Given the description of an element on the screen output the (x, y) to click on. 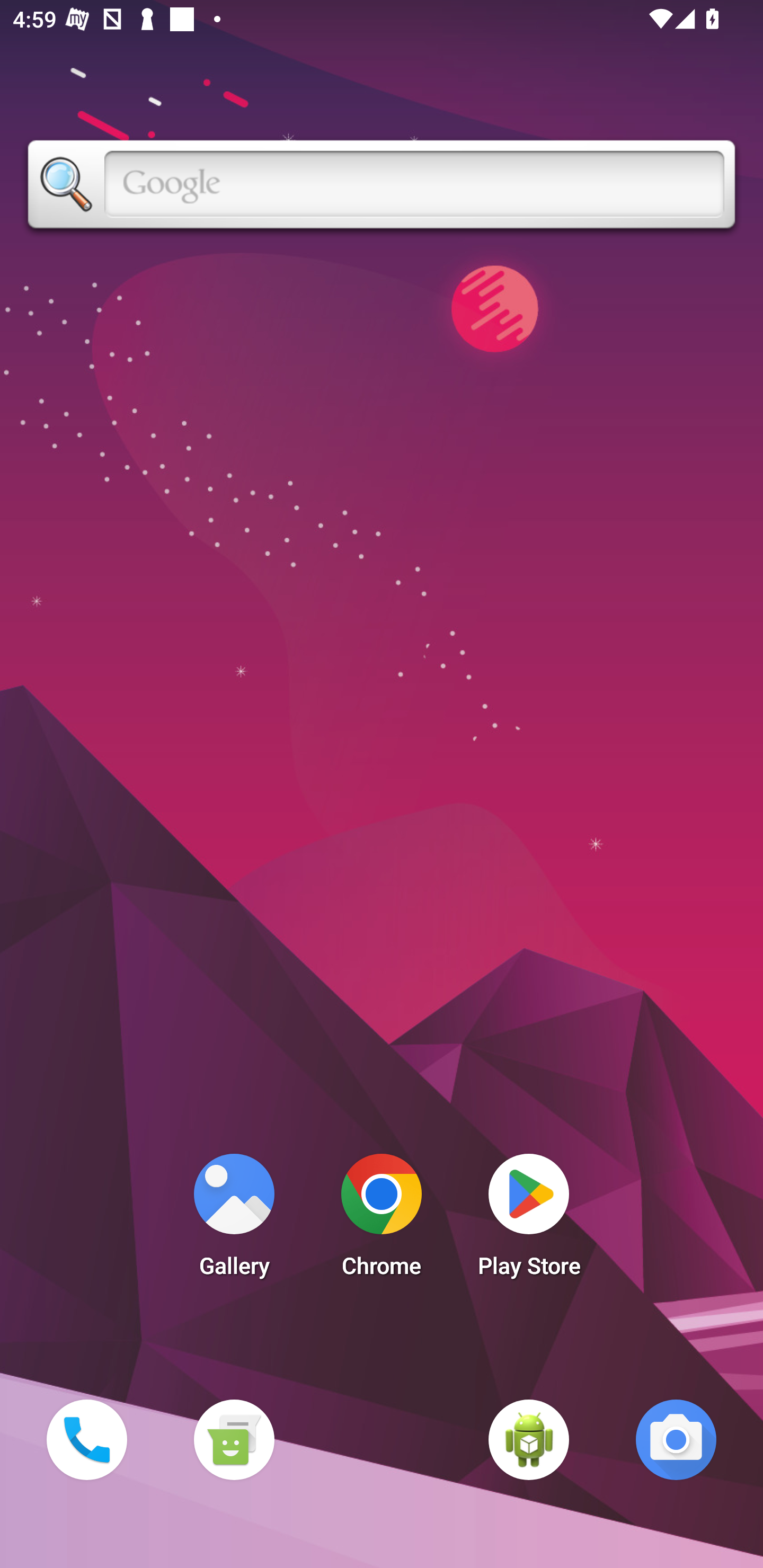
Gallery (233, 1220)
Chrome (381, 1220)
Play Store (528, 1220)
Phone (86, 1439)
Messaging (233, 1439)
WebView Browser Tester (528, 1439)
Camera (676, 1439)
